Given the description of an element on the screen output the (x, y) to click on. 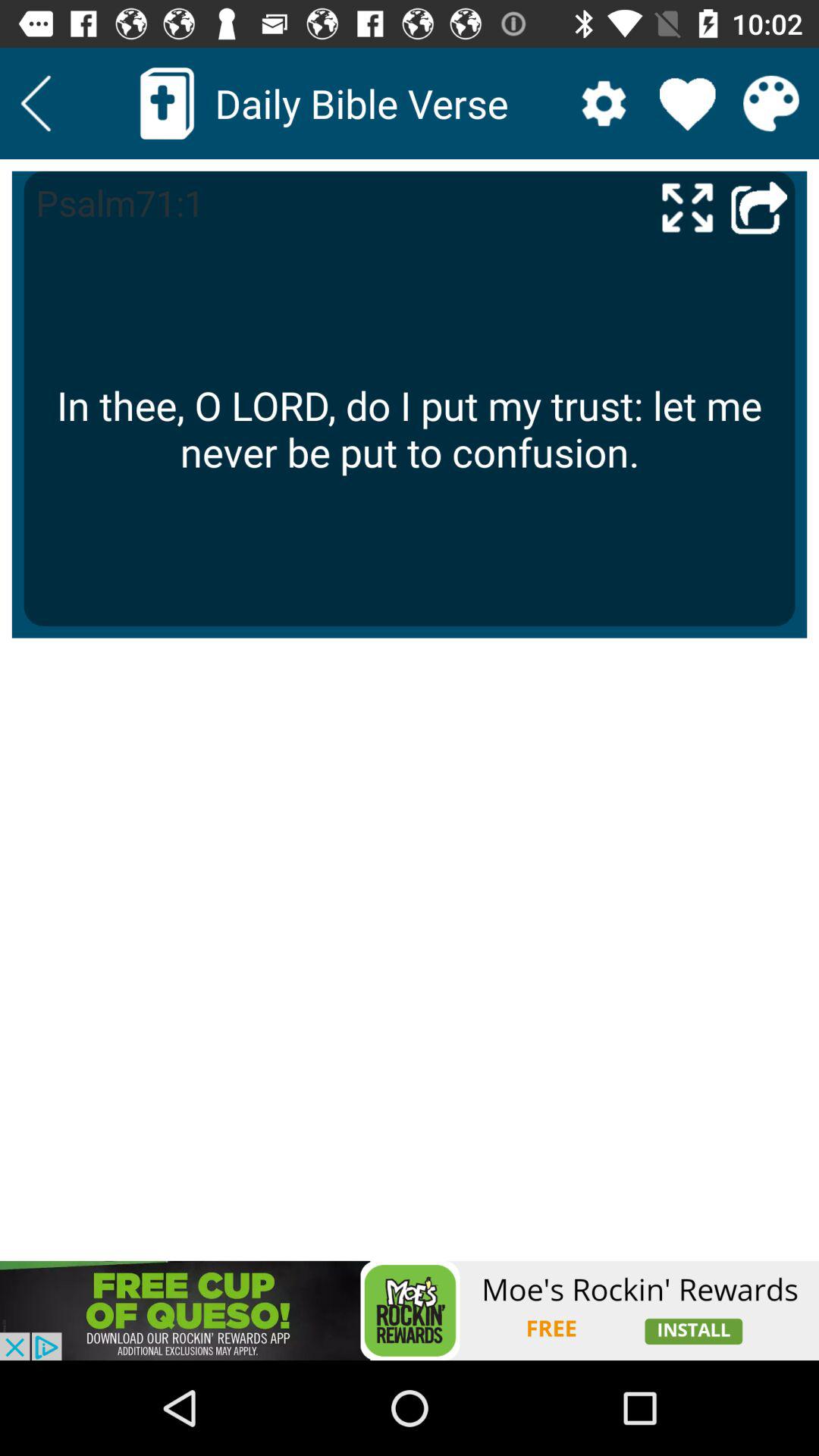
change color (771, 103)
